Given the description of an element on the screen output the (x, y) to click on. 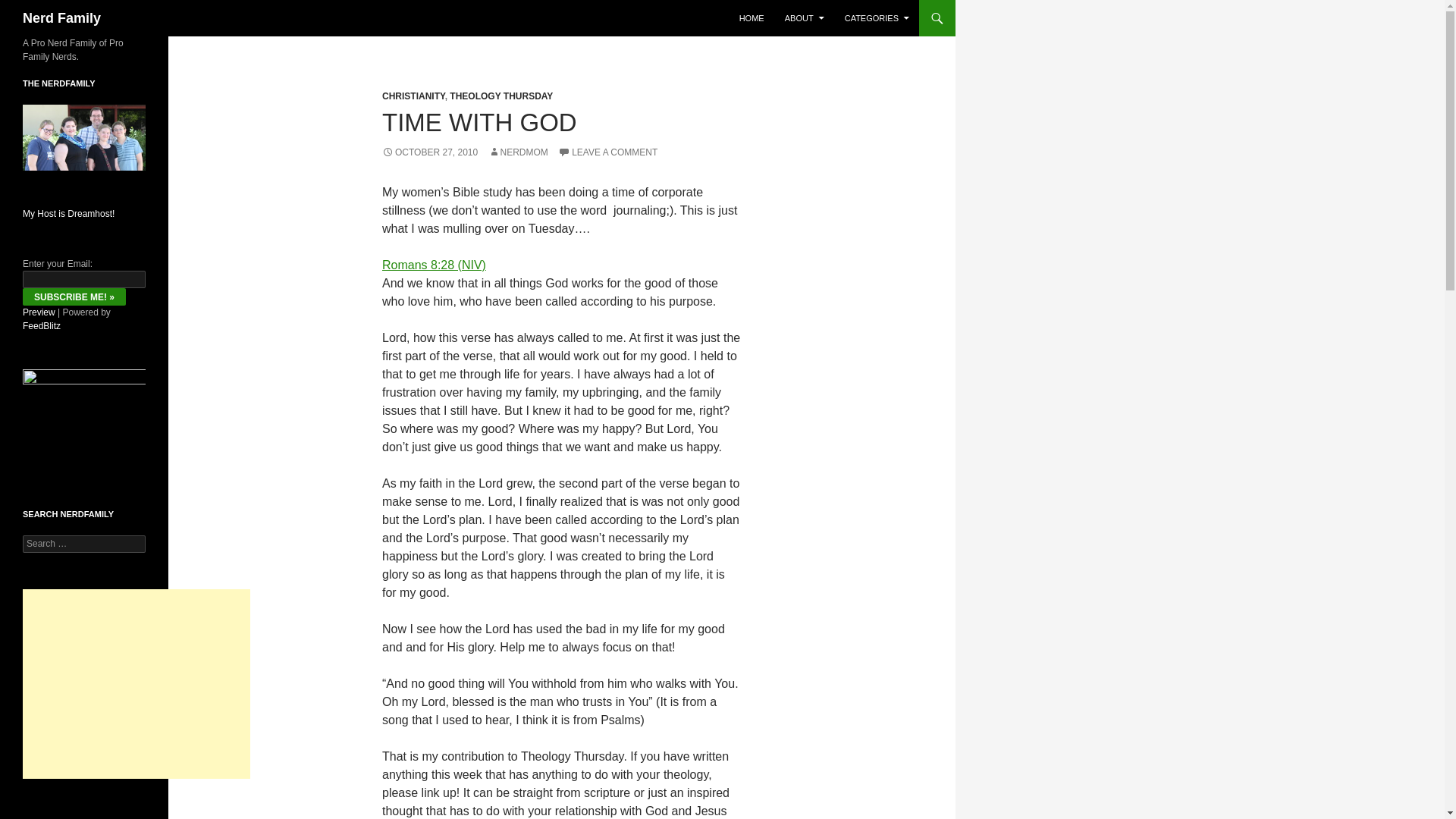
My Host is Dreamhost! (69, 213)
HOME (751, 18)
Preview (39, 312)
Nerd Family (61, 18)
Search (30, 8)
LEAVE A COMMENT (607, 152)
THEOLOGY THURSDAY (501, 95)
CHRISTIANITY (413, 95)
ABOUT (804, 18)
OCTOBER 27, 2010 (429, 152)
